Given the description of an element on the screen output the (x, y) to click on. 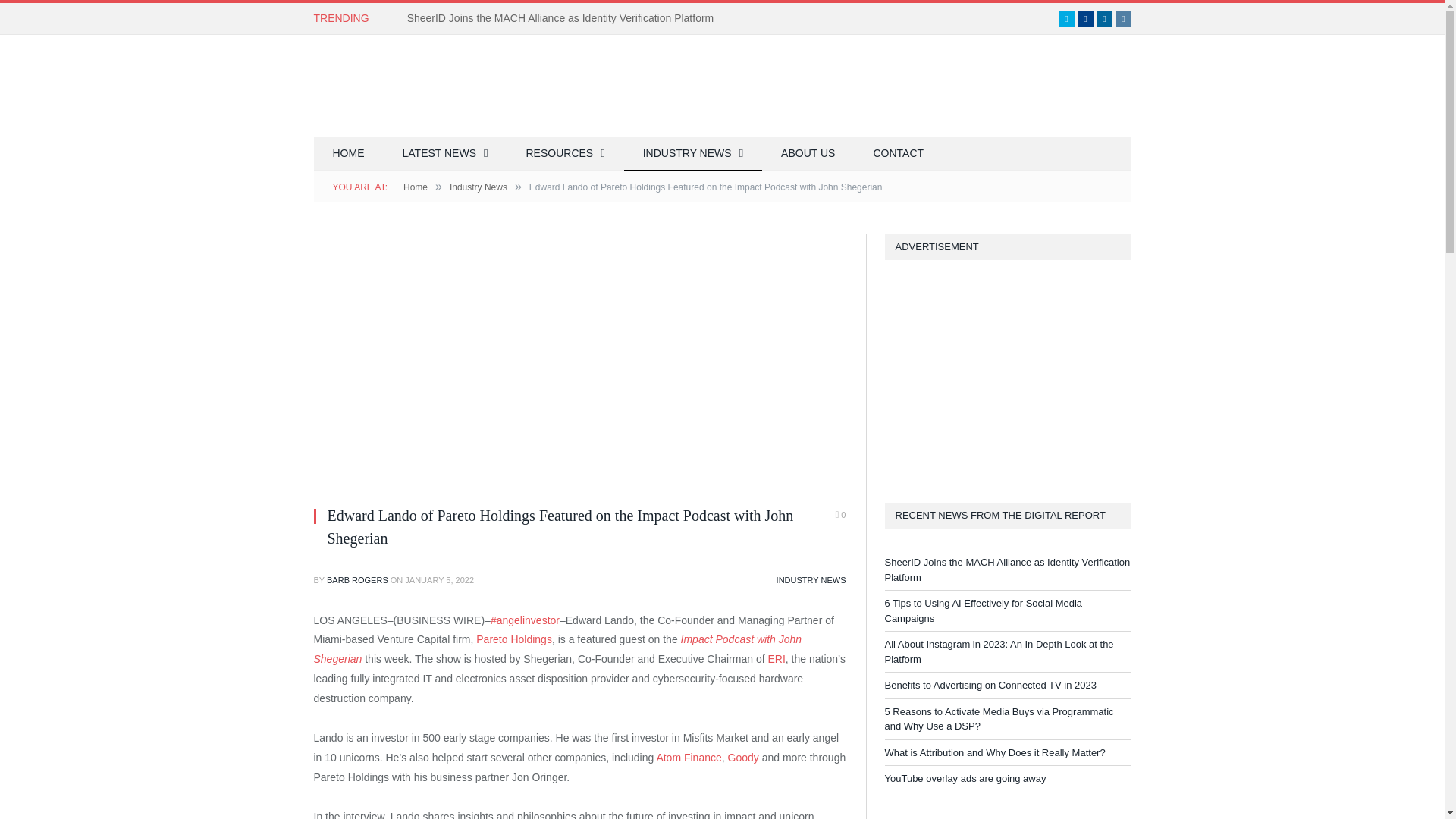
Facebook (1085, 18)
Instagram (1123, 18)
CONTACT (897, 154)
2022-01-05 (439, 579)
Posts by Barb Rogers (357, 579)
RESOURCES (564, 154)
LATEST NEWS (445, 154)
INDUSTRY NEWS (810, 579)
Home (415, 186)
INDUSTRY NEWS (692, 154)
Industry News (477, 186)
LinkedIn (1104, 18)
BARB ROGERS (357, 579)
